Given the description of an element on the screen output the (x, y) to click on. 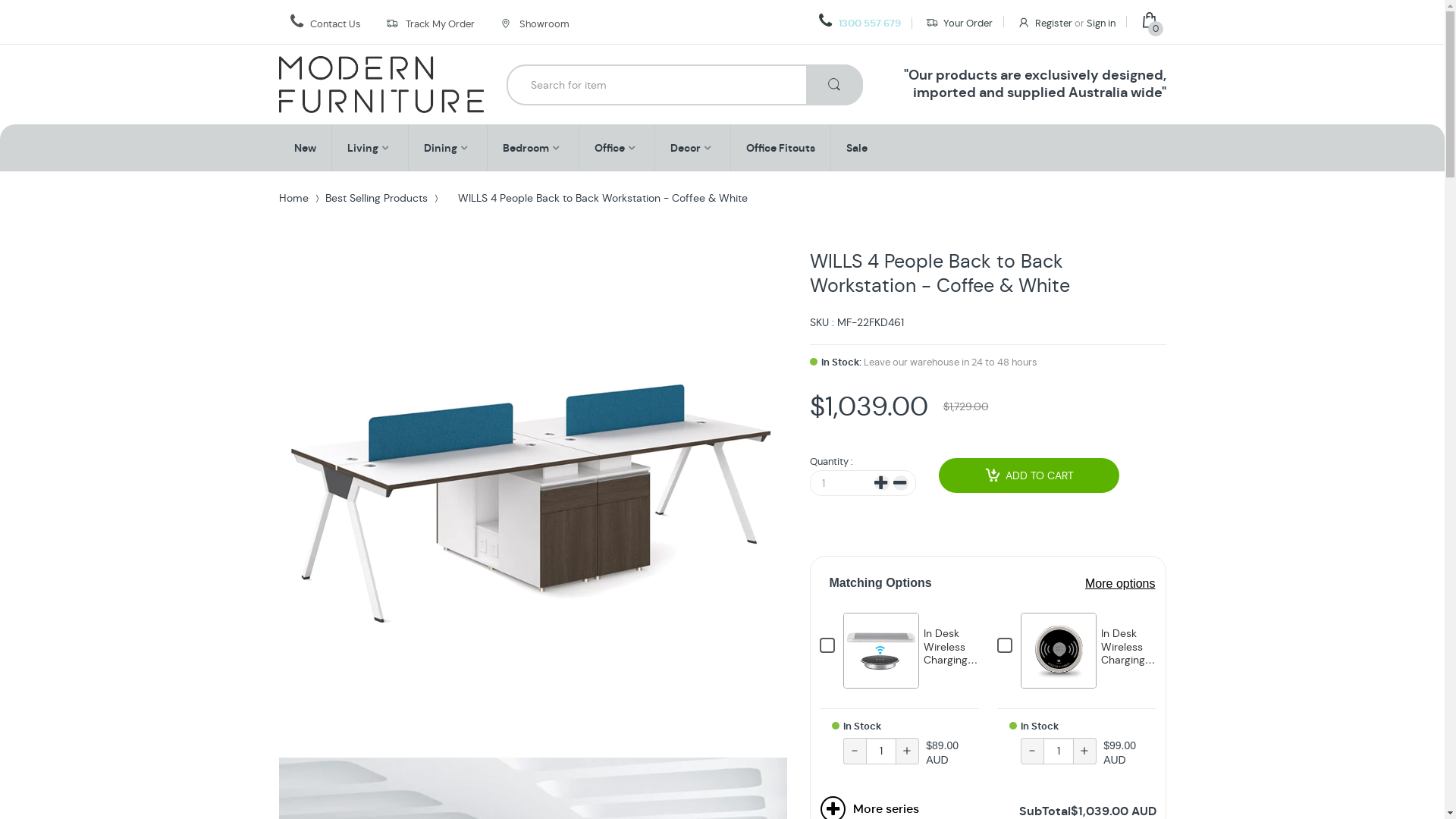
Increase Element type: hover (880, 482)
ADD TO CART Element type: text (1028, 475)
Office Fitouts Element type: text (780, 147)
New Element type: text (305, 147)
Decor Element type: text (685, 147)
Sale Element type: text (856, 147)
Bedroom Element type: text (525, 147)
Showroom Element type: text (533, 22)
Living Element type: text (362, 147)
Dining Element type: text (439, 147)
Contact Us Element type: text (334, 23)
Your Order Element type: text (958, 22)
Modern Furniture Element type: hover (381, 84)
0 Element type: text (1153, 22)
Track My Order Element type: text (438, 23)
1300 557 679 Element type: text (859, 23)
In Desk Wireless Charging Dock 7cm Element type: text (950, 653)
Home Element type: text (293, 197)
Best Selling Products Element type: text (375, 197)
Sign in Element type: text (1099, 23)
Office Element type: text (609, 147)
Decrease Element type: hover (900, 482)
Register Element type: text (1044, 22)
